Given the description of an element on the screen output the (x, y) to click on. 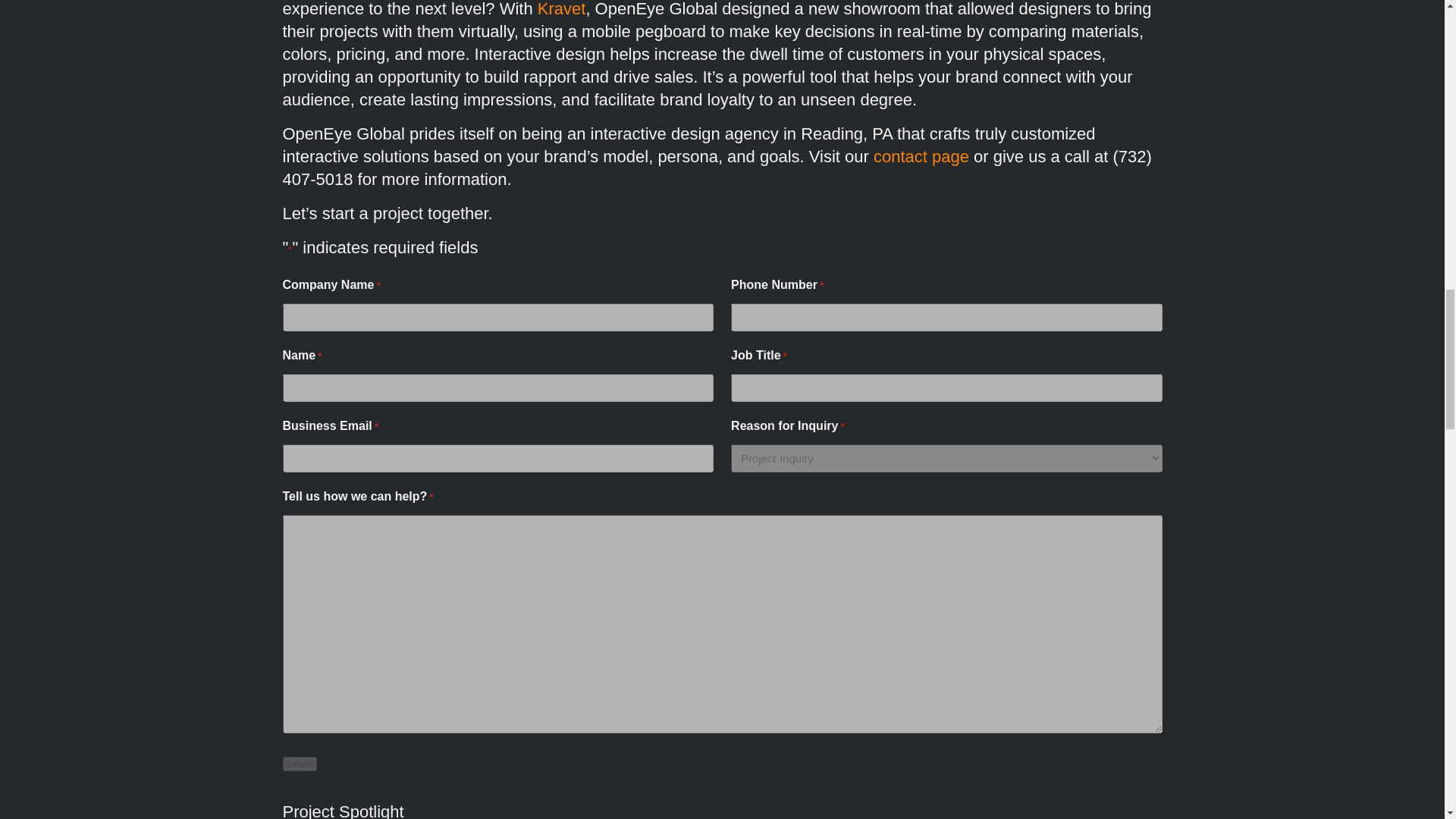
Submit (298, 763)
contact page (921, 156)
Kravet (561, 9)
Submit (298, 763)
